Given the description of an element on the screen output the (x, y) to click on. 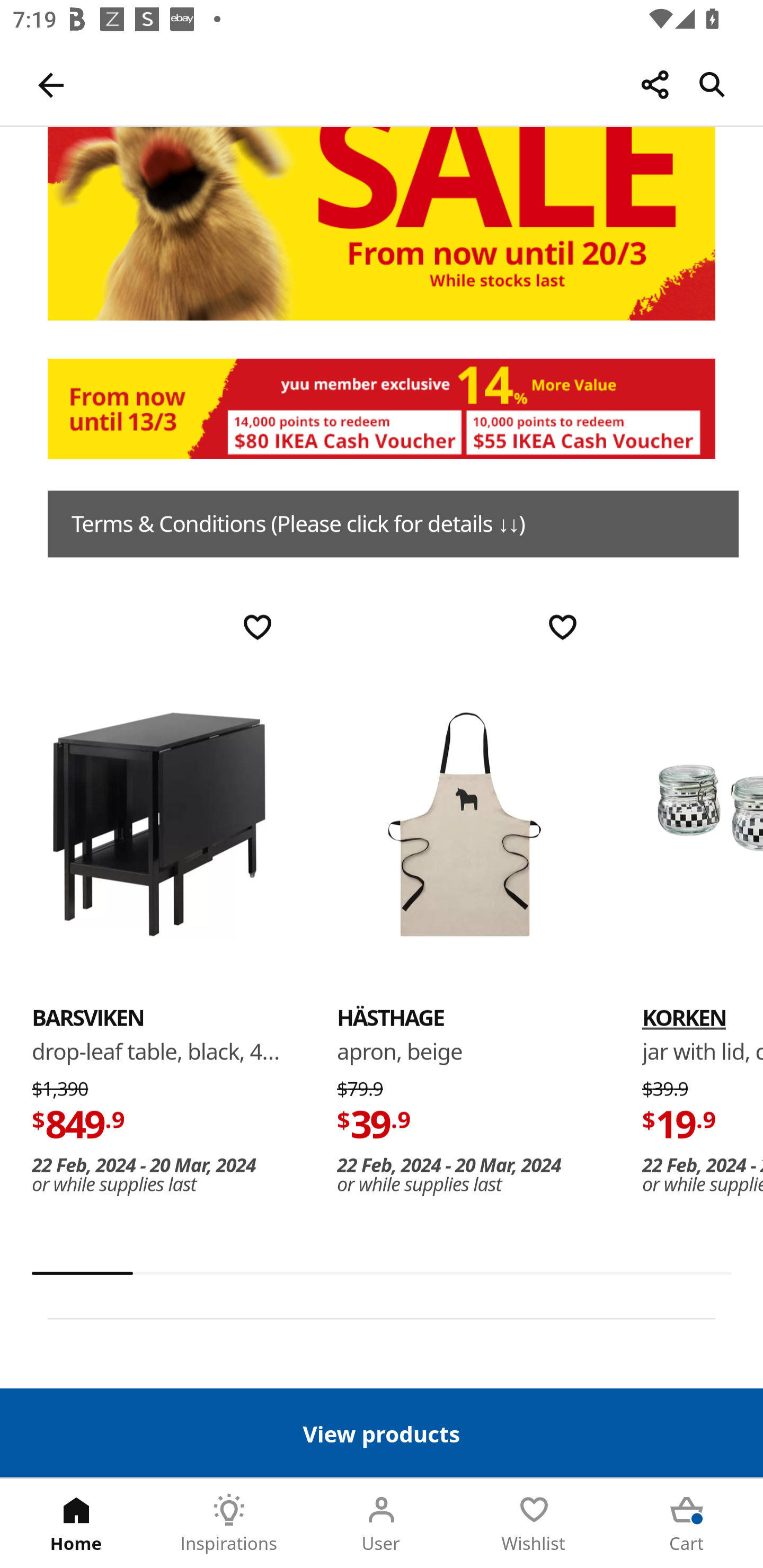
Terms & Conditions (Please click for details ↓↓) (393, 524)
BARSVIKEN (159, 823)
HÄSTHAGE (464, 823)
KORKEN (702, 823)
BARSVIKEN (88, 1017)
HÄSTHAGE (390, 1017)
KORKEN (684, 1017)
View products (381, 1432)
Home
Tab 1 of 5 (76, 1522)
Inspirations
Tab 2 of 5 (228, 1522)
User
Tab 3 of 5 (381, 1522)
Wishlist
Tab 4 of 5 (533, 1522)
Cart
Tab 5 of 5 (686, 1522)
